Given the description of an element on the screen output the (x, y) to click on. 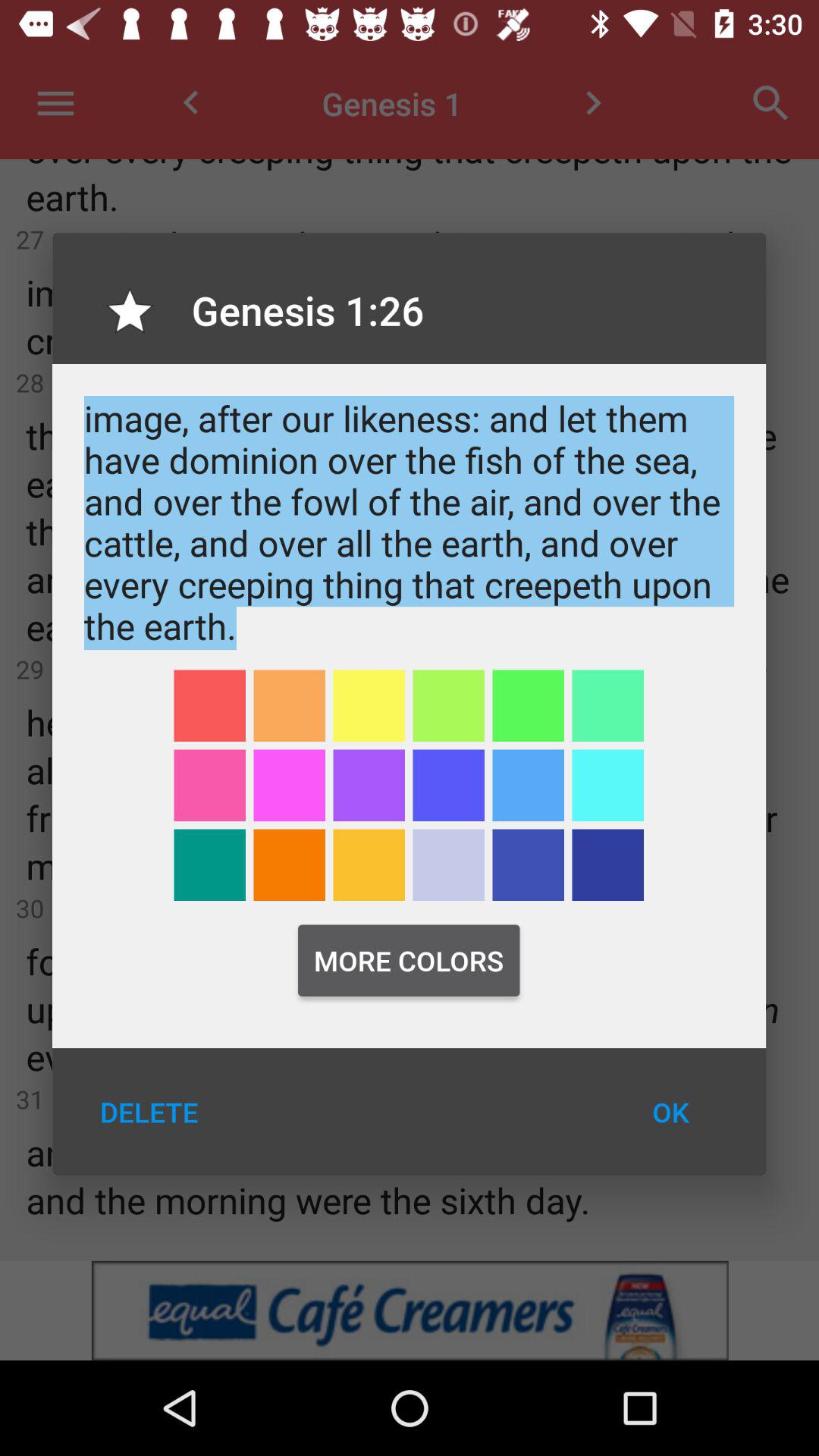
select the orange color (289, 705)
